Given the description of an element on the screen output the (x, y) to click on. 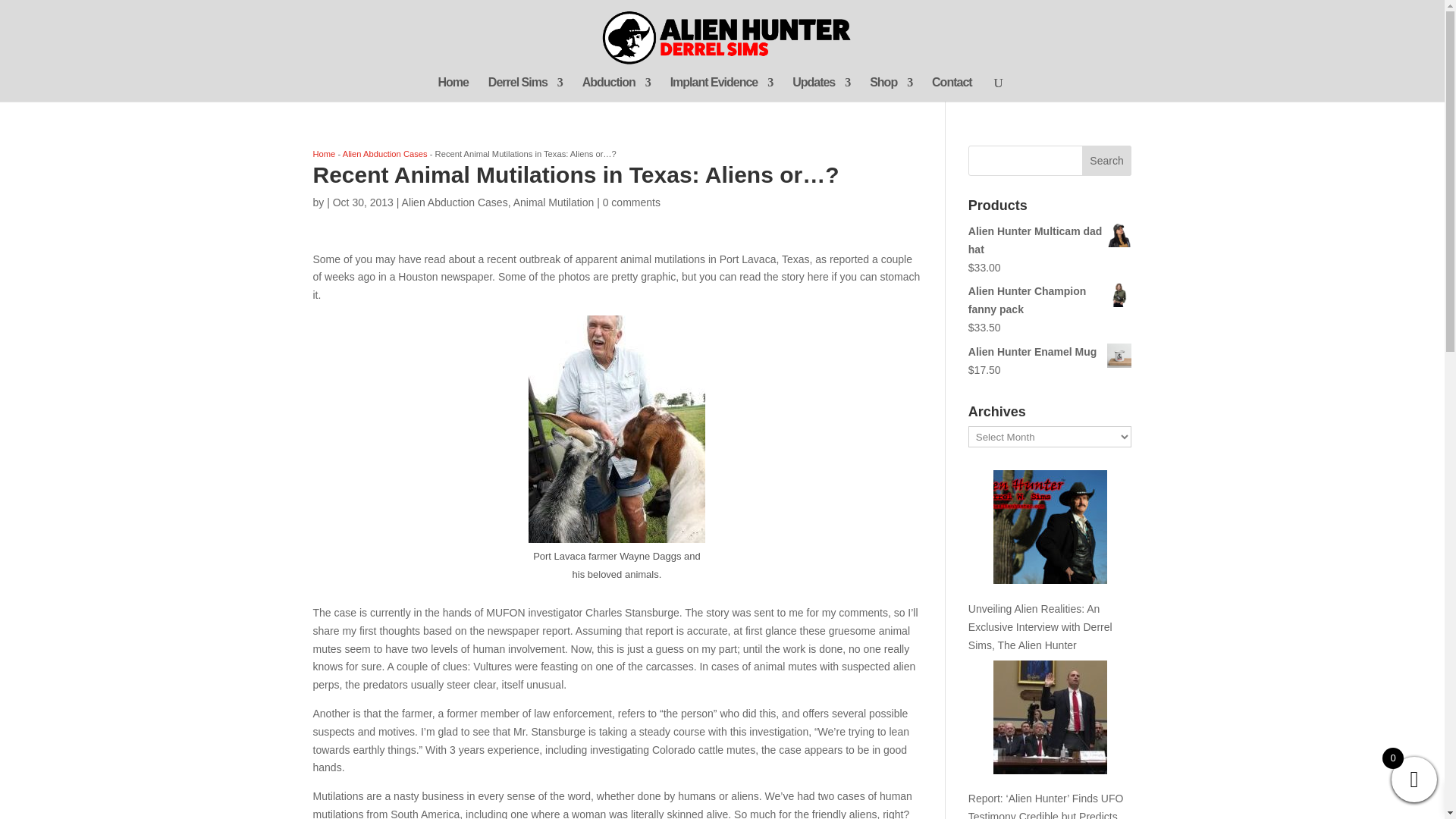
Implant Evidence (721, 88)
Derrel Sims (524, 88)
Search (1106, 160)
Shop (890, 88)
Home (453, 88)
Contact (951, 88)
Updates (821, 88)
Abduction (616, 88)
